Given the description of an element on the screen output the (x, y) to click on. 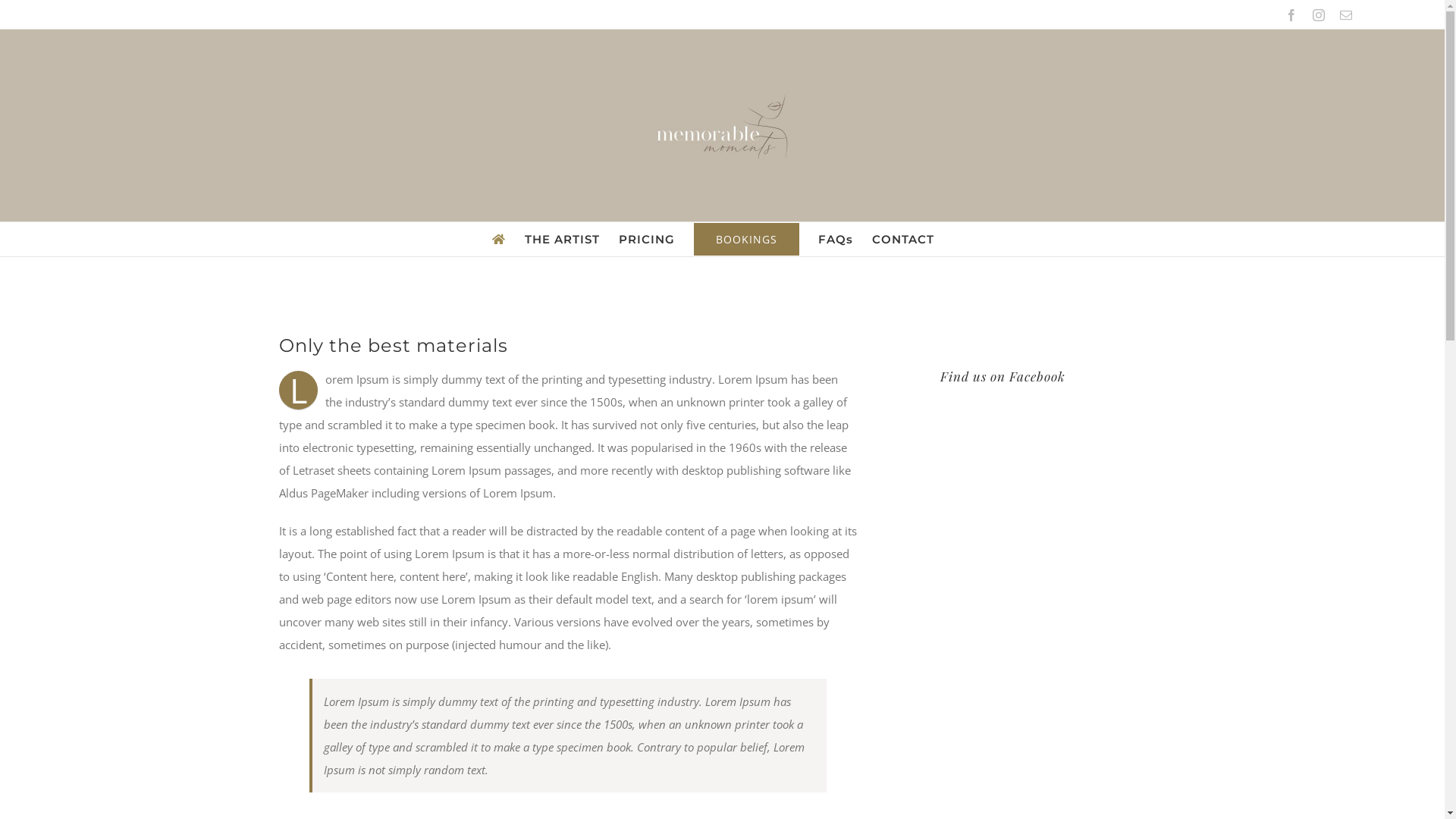
CONTACT Element type: text (903, 239)
PRICING Element type: text (646, 239)
Instagram Element type: text (1318, 15)
Facebook Element type: text (1291, 15)
THE ARTIST Element type: text (561, 239)
FAQs Element type: text (834, 239)
Email Element type: text (1345, 15)
BOOKINGS Element type: text (745, 239)
